Given the description of an element on the screen output the (x, y) to click on. 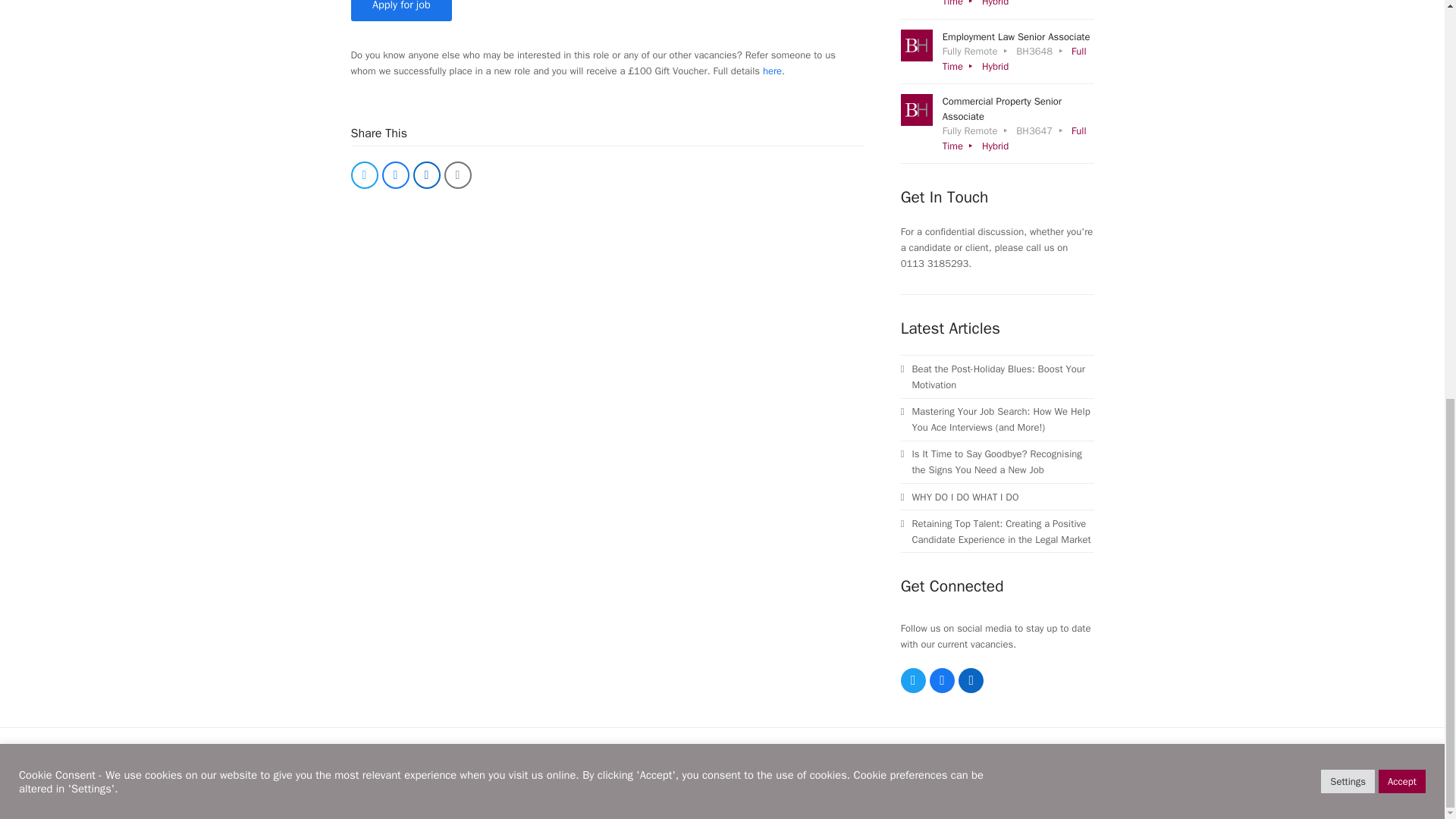
Facebook (942, 680)
Apply for job (400, 10)
Share on LinkedIn (425, 175)
Share on Twitter (363, 175)
here (771, 70)
LinkedIn (971, 680)
Share via Email (457, 175)
